Given the description of an element on the screen output the (x, y) to click on. 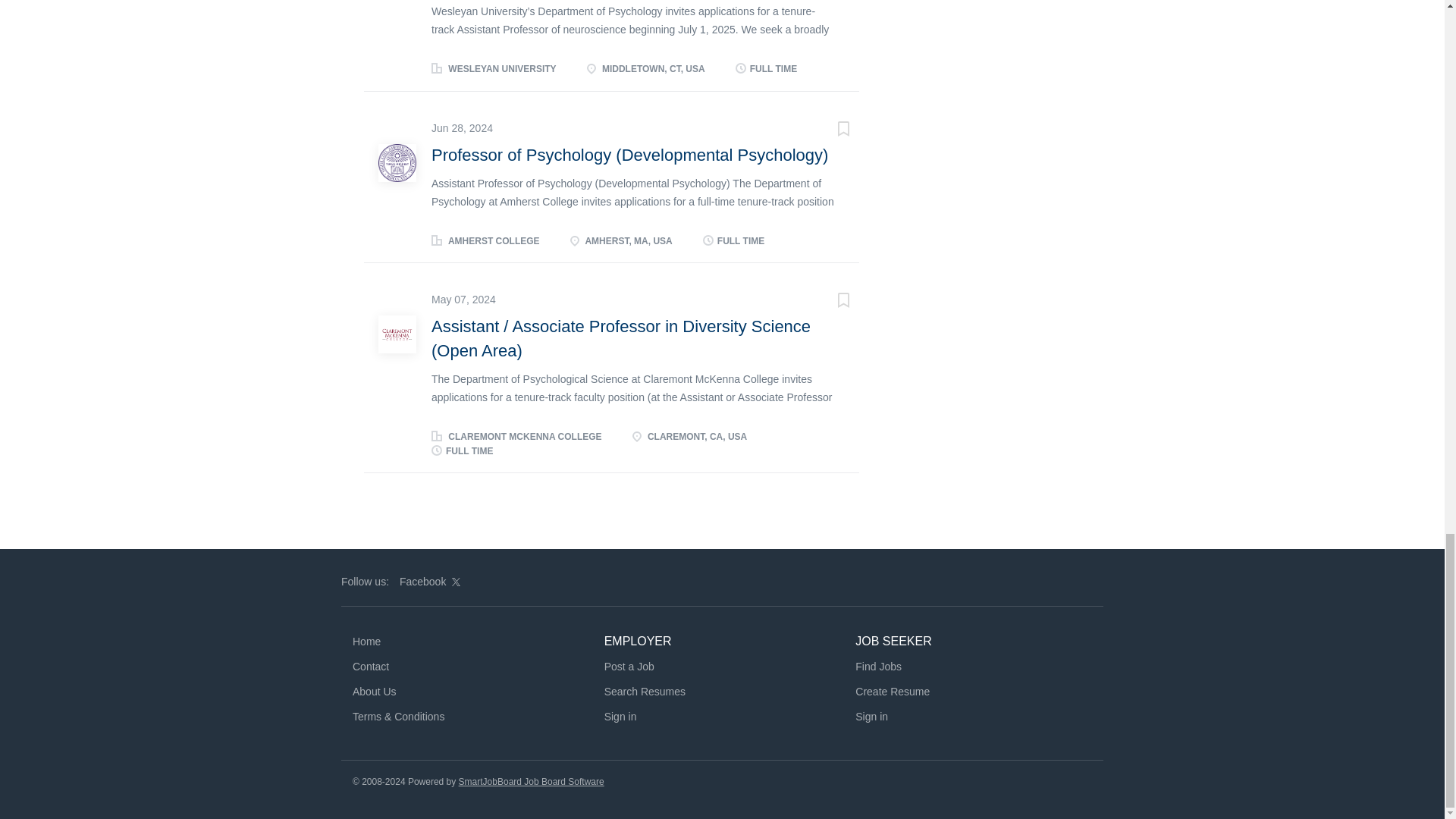
Job Board Software, Script (531, 780)
Save (828, 302)
Save (828, 130)
